Given the description of an element on the screen output the (x, y) to click on. 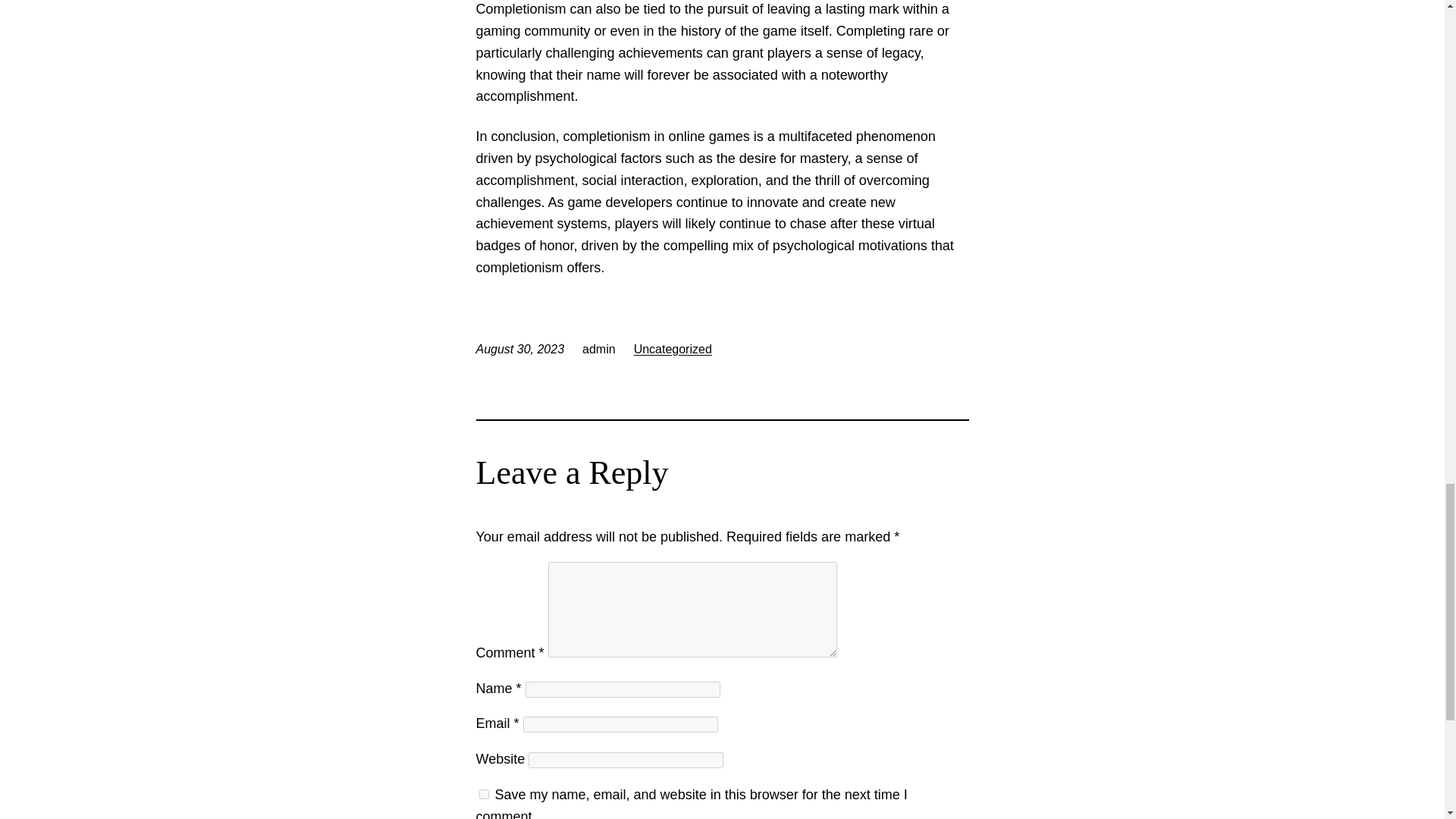
yes (484, 794)
Uncategorized (672, 349)
